Given the description of an element on the screen output the (x, y) to click on. 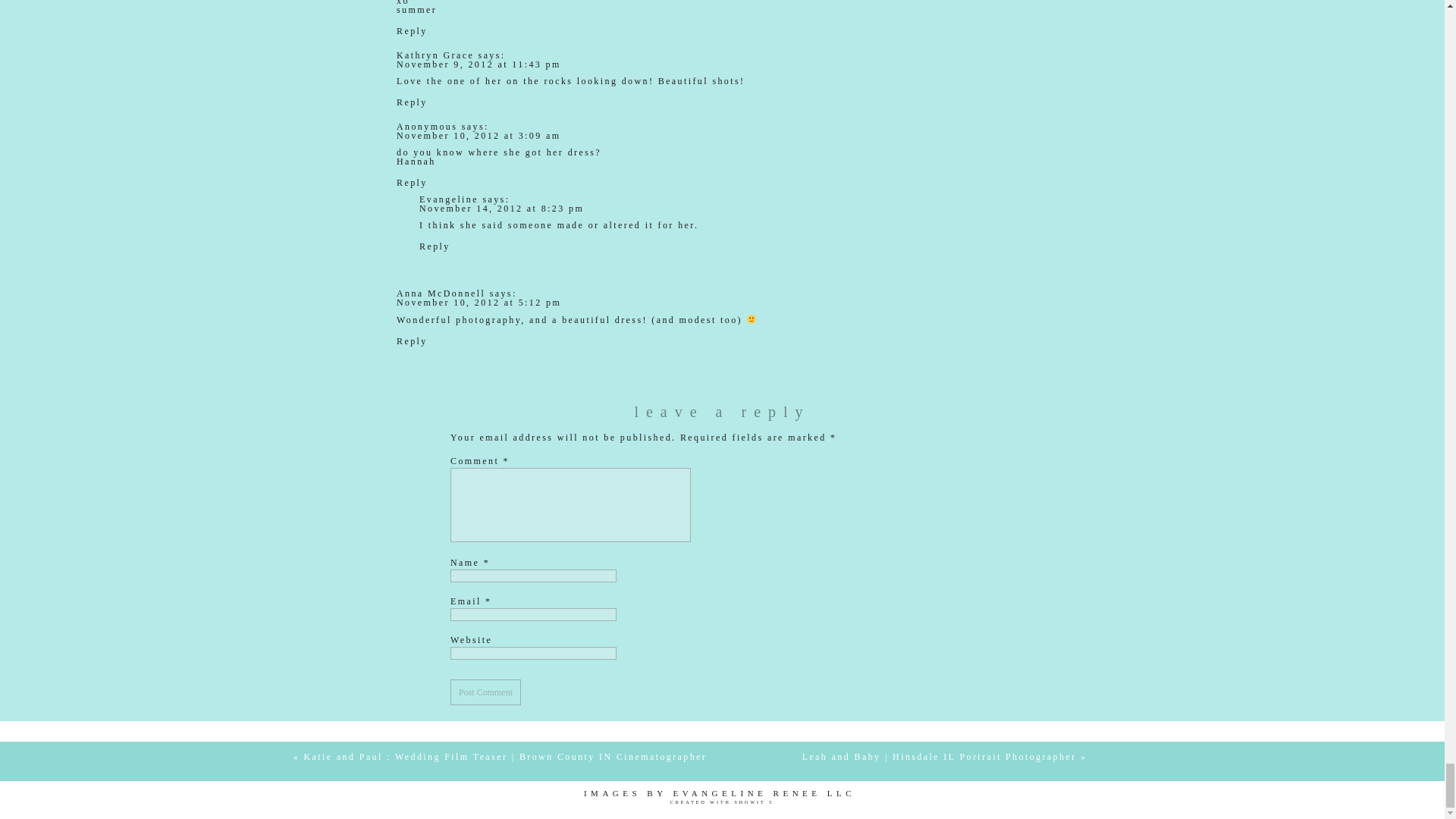
Reply (412, 102)
November 10, 2012 at 5:12 pm (478, 302)
Reply (412, 30)
November 10, 2012 at 3:09 am (478, 135)
CREATED WITH SHOWIT 5 (721, 803)
November 9, 2012 at 11:43 pm (478, 63)
November 14, 2012 at 8:23 pm (501, 208)
Kathryn Grace (435, 54)
Reply (434, 245)
Evangeline (449, 199)
